Given the description of an element on the screen output the (x, y) to click on. 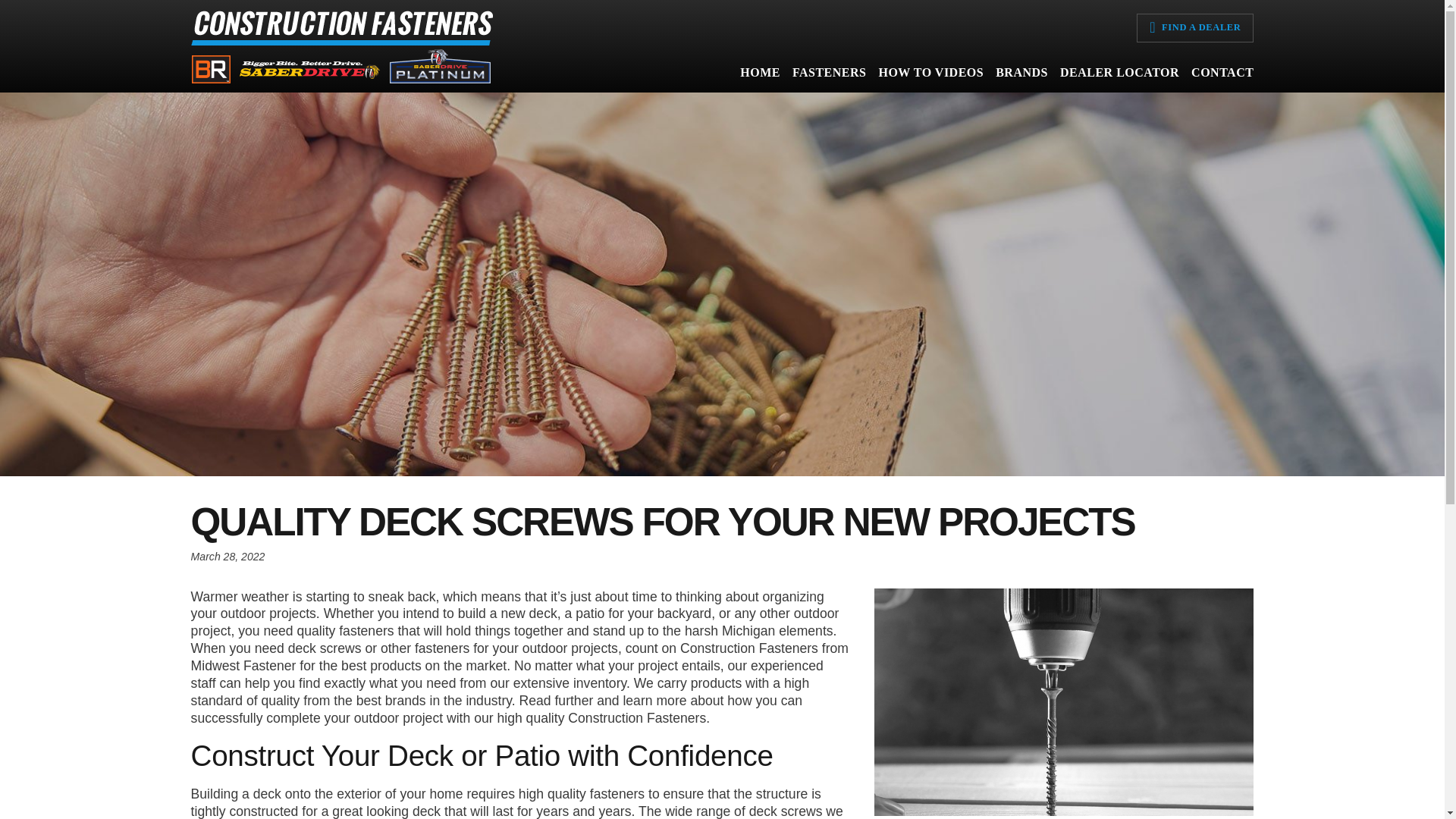
CONTACT (1219, 76)
HOW TO VIDEOS (931, 76)
HOME (759, 76)
FIND A DEALER (1194, 27)
FASTENERS (829, 76)
DEALER LOCATOR (1119, 76)
Construction Fasteners (342, 78)
BRANDS (1022, 76)
